Given the description of an element on the screen output the (x, y) to click on. 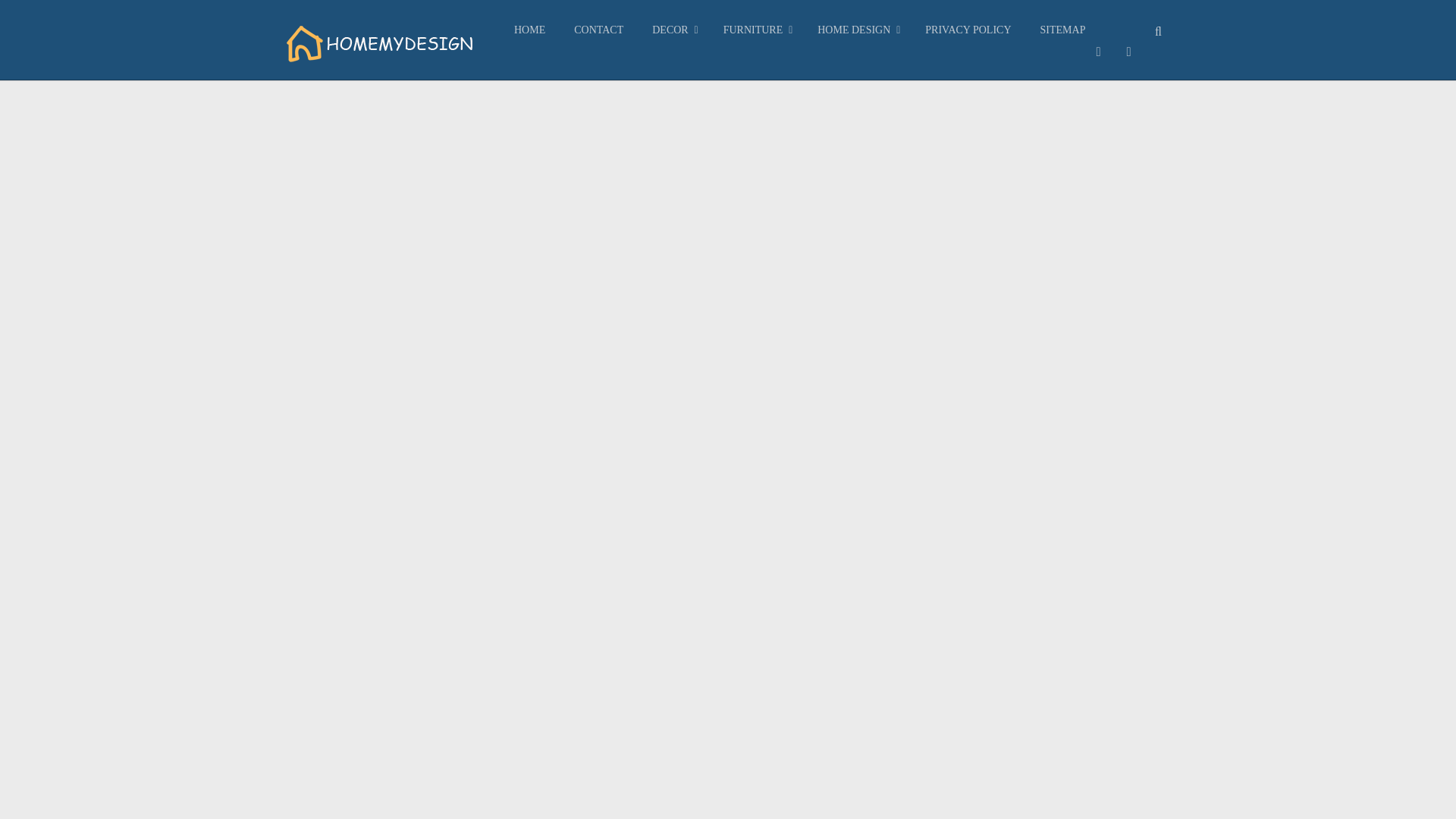
HOME (529, 30)
CONTACT (598, 30)
DECOR (672, 30)
FURNITURE (756, 30)
